Given the description of an element on the screen output the (x, y) to click on. 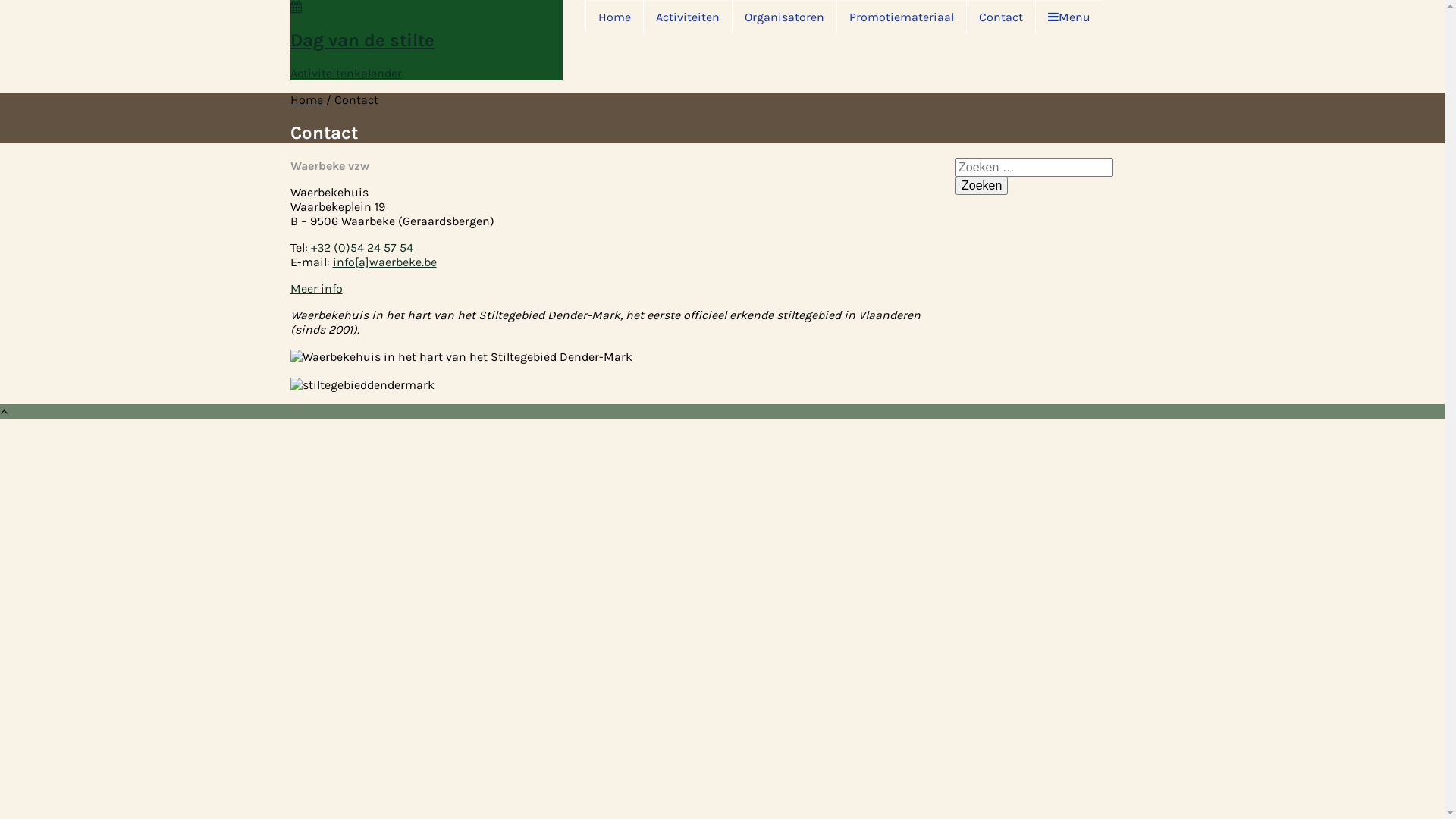
Dag van de stilte
Activiteitenkalender Element type: text (425, 40)
Contact Element type: text (1000, 16)
Menu Element type: text (1068, 16)
Home Element type: text (305, 99)
info[a]waerbeke.be Element type: text (384, 261)
Zoeken Element type: text (981, 185)
+32 (0)54 24 57 54 Element type: text (361, 247)
Home Element type: text (614, 16)
Promotiemateriaal Element type: text (901, 16)
Activiteiten Element type: text (687, 16)
Meer info Element type: text (315, 288)
Organisatoren Element type: text (783, 16)
